Given the description of an element on the screen output the (x, y) to click on. 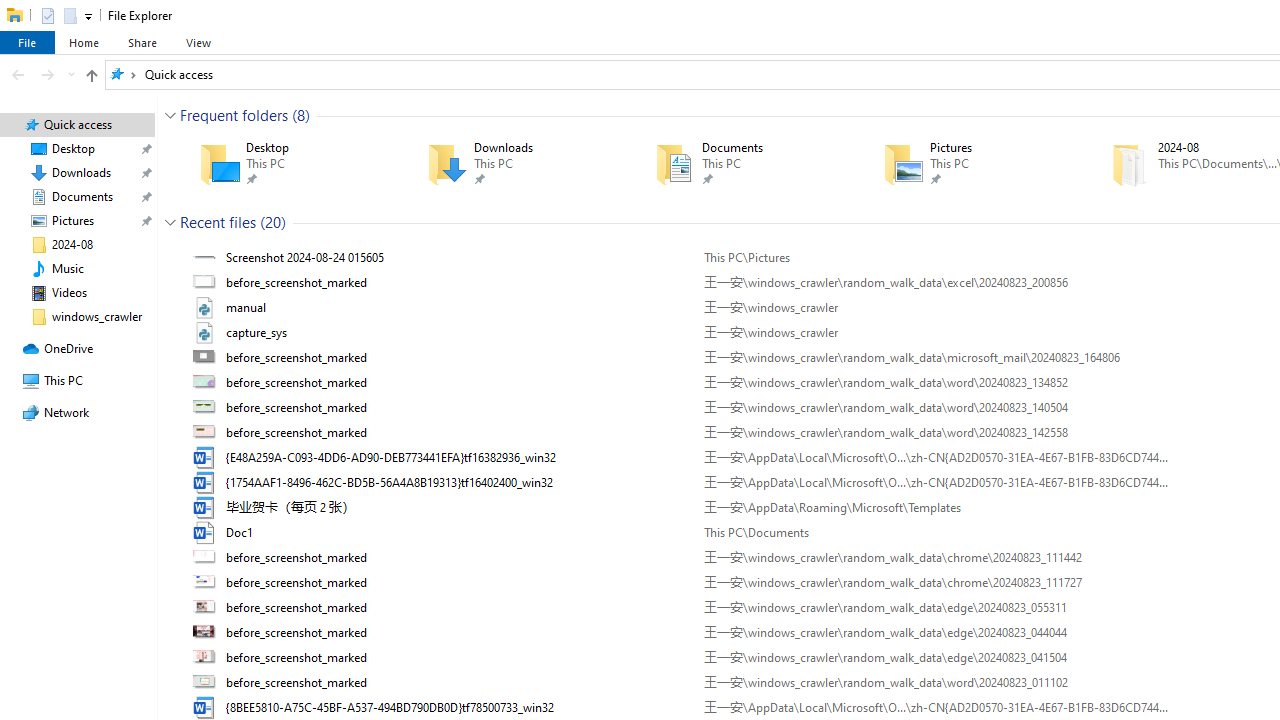
New folder (69, 14)
Downloads (512, 164)
Class: UIImage (205, 683)
All locations (123, 74)
Up to "Desktop" (Alt + Up Arrow) (91, 75)
Properties (47, 14)
Forward (Alt + Right Arrow) (47, 74)
Quick Access Toolbar (58, 16)
Name (457, 683)
Share (142, 42)
Collapse Group (169, 222)
Pictures (969, 164)
Customize Quick Access Toolbar (87, 16)
Documents (740, 164)
Pinned (1002, 179)
